Given the description of an element on the screen output the (x, y) to click on. 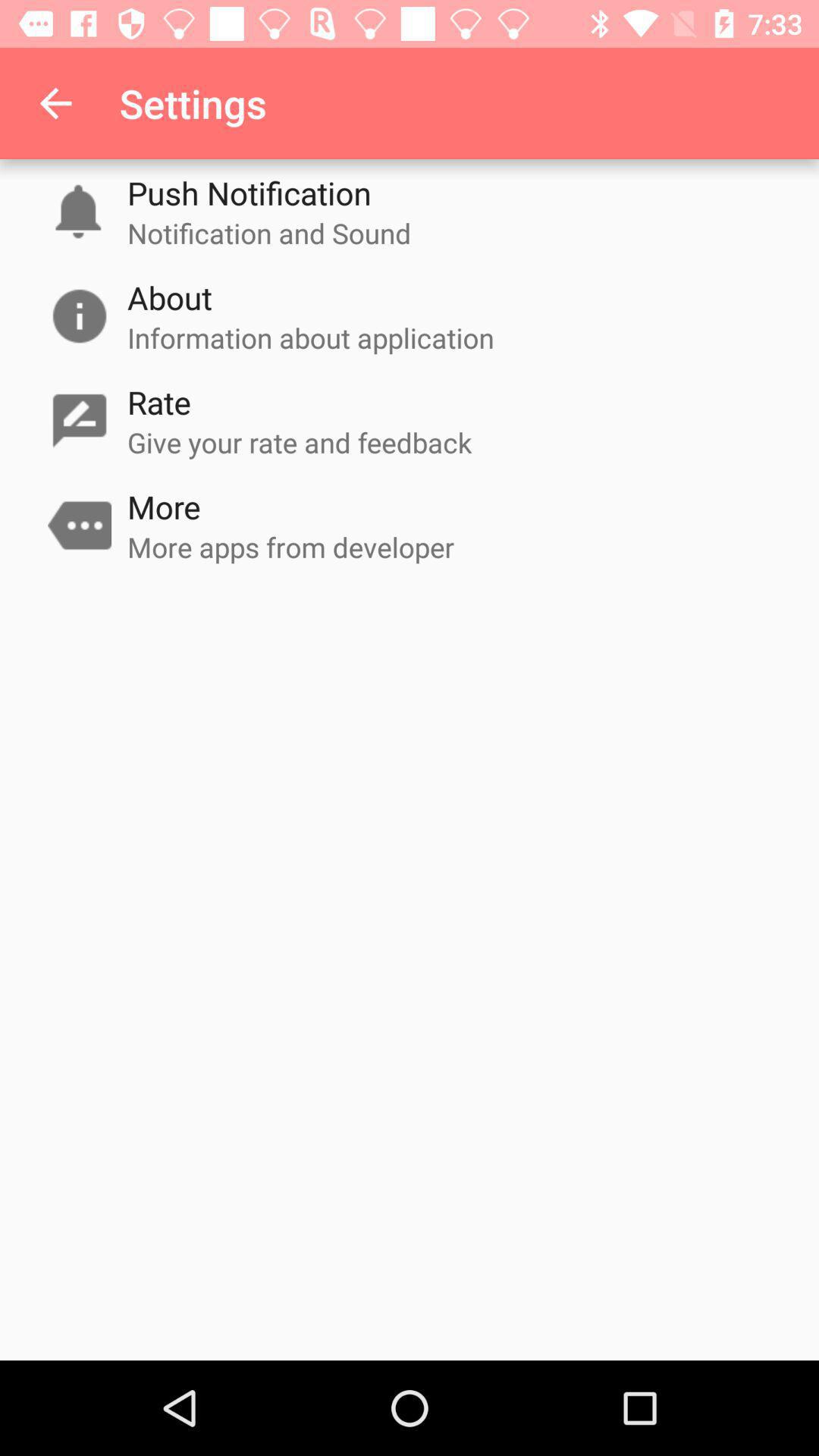
select the item below the more (290, 546)
